Given the description of an element on the screen output the (x, y) to click on. 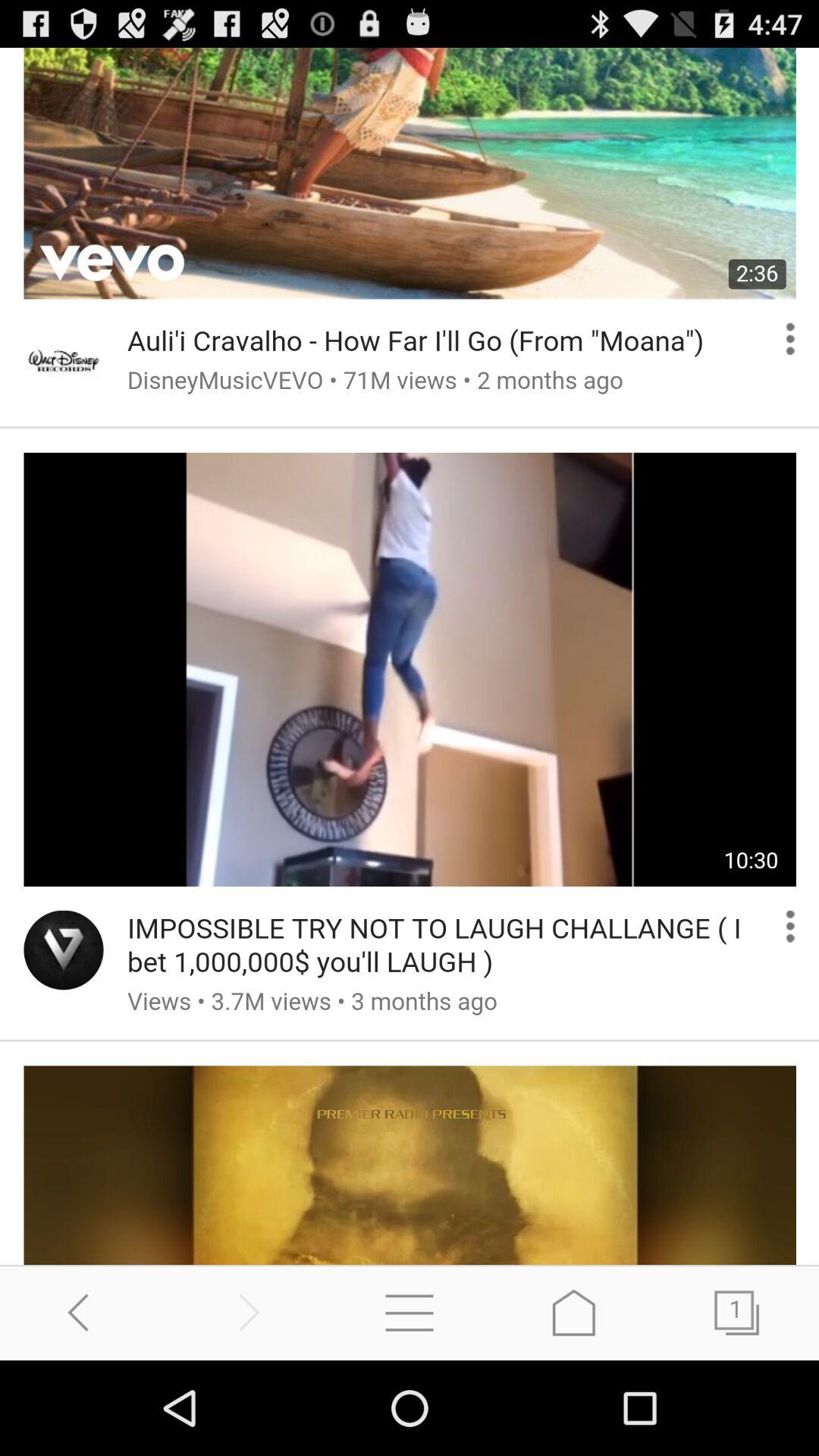
one page ope (736, 1312)
